Given the description of an element on the screen output the (x, y) to click on. 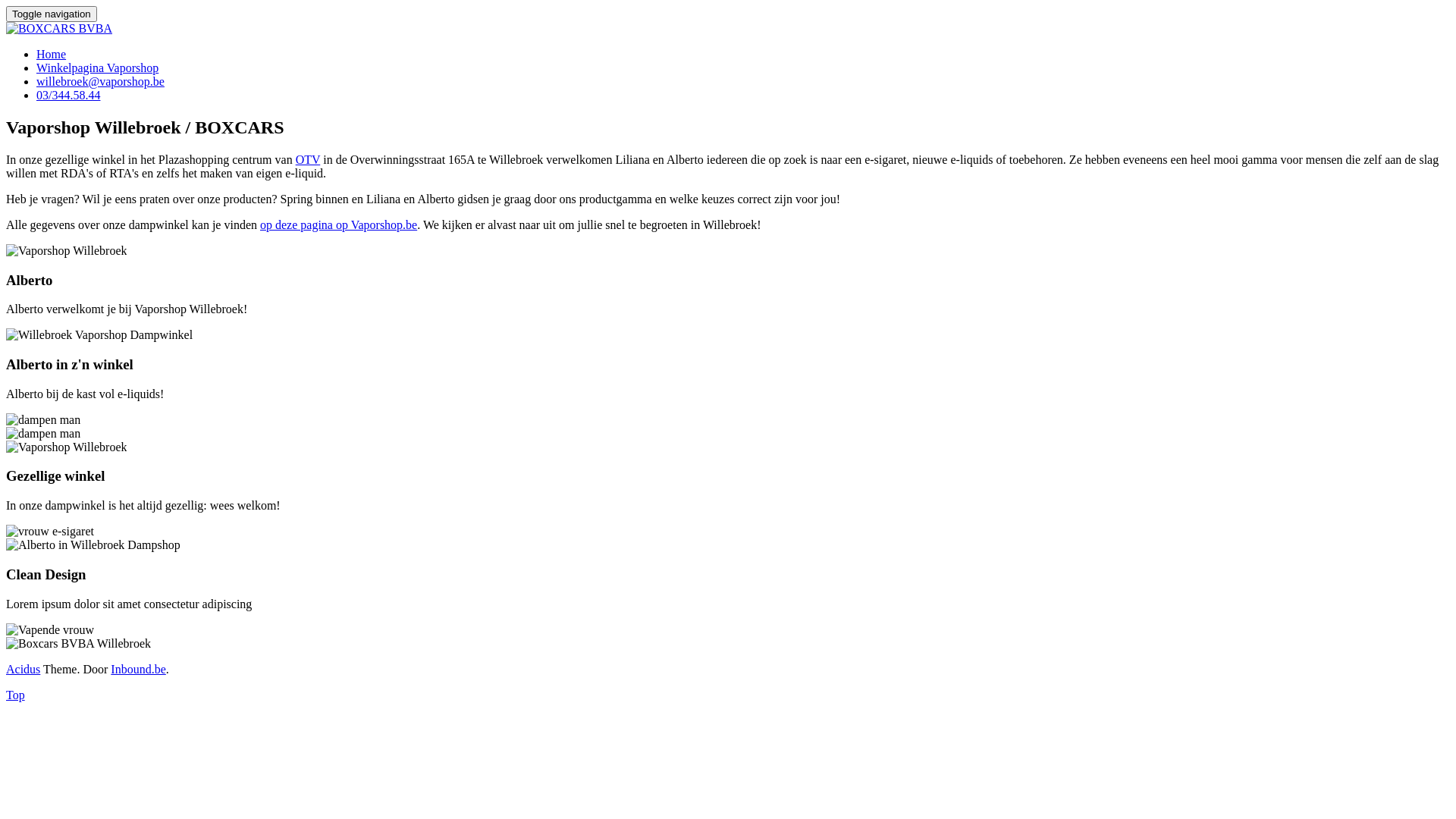
Home Element type: text (50, 53)
willebroek@vaporshop.be Element type: text (100, 81)
03/344.58.44 Element type: text (68, 94)
op deze pagina op Vaporshop.be Element type: text (338, 224)
Winkelpagina Vaporshop Element type: text (97, 67)
OTV Element type: text (307, 159)
Top Element type: text (15, 694)
Inbound.be Element type: text (137, 668)
Toggle navigation Element type: text (51, 13)
Acidus Element type: text (23, 668)
